Given the description of an element on the screen output the (x, y) to click on. 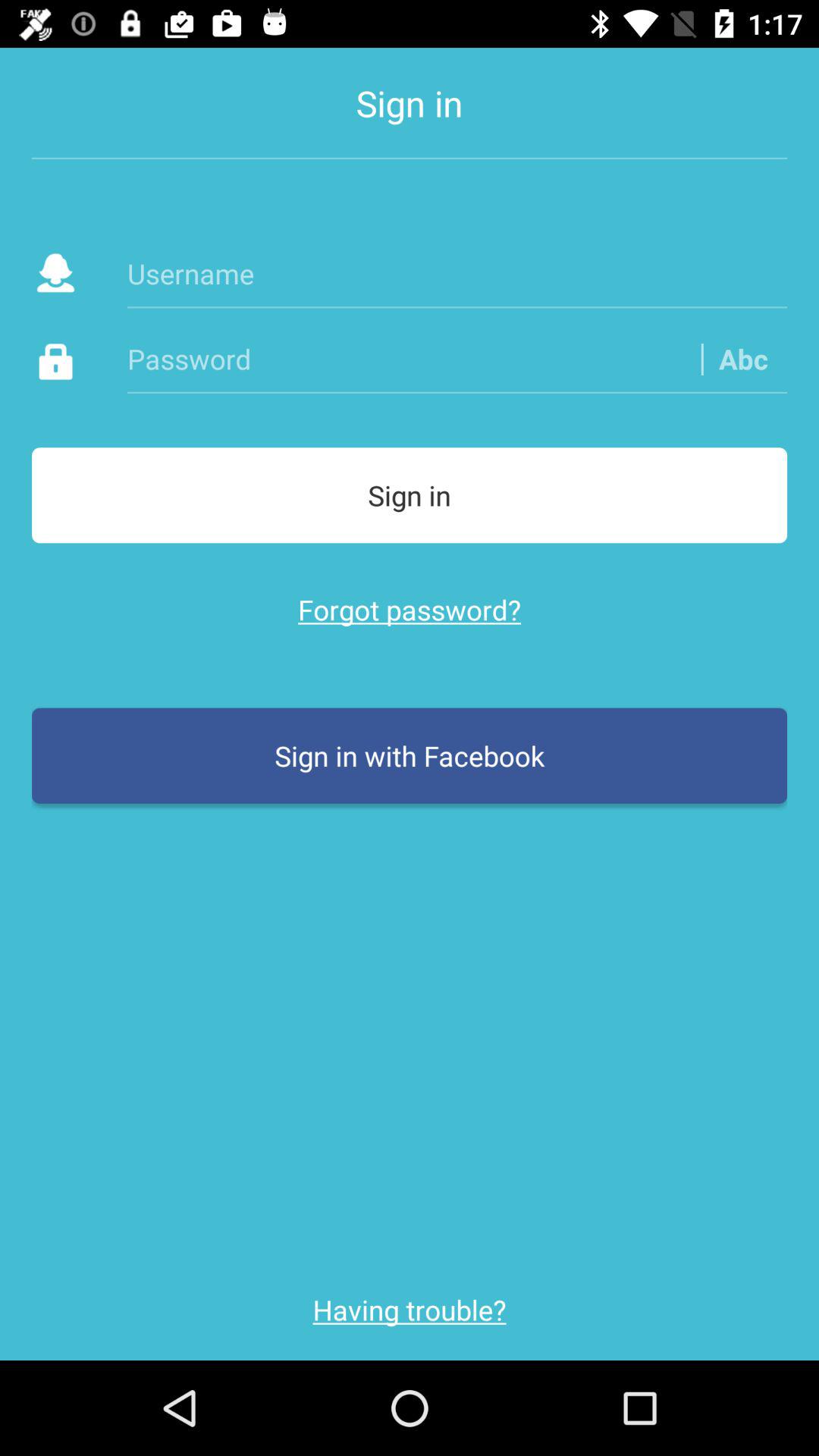
flip to forgot password? item (409, 609)
